Given the description of an element on the screen output the (x, y) to click on. 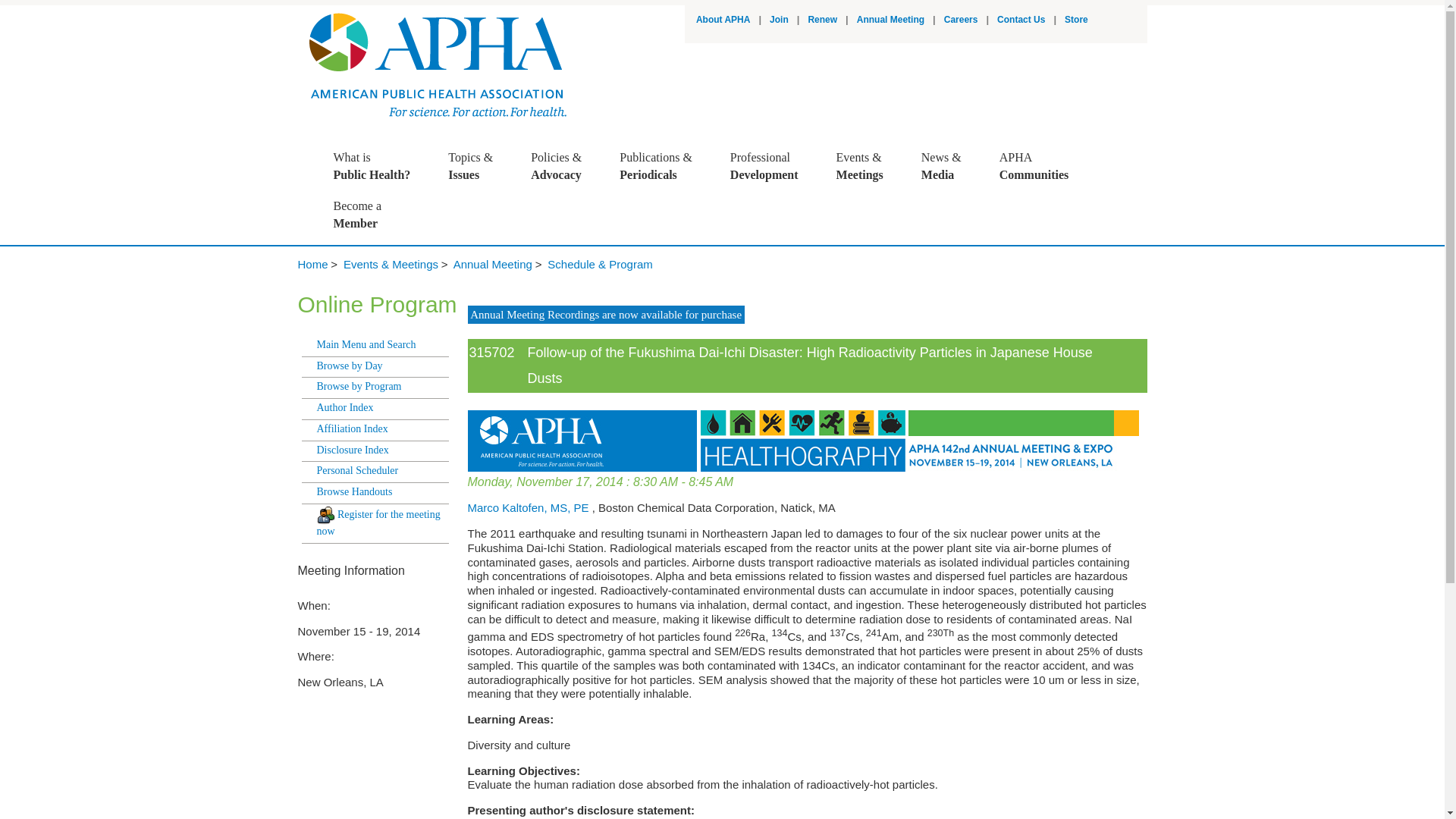
Annual Meeting (378, 166)
APHA Annual Meeting Recordings (890, 19)
Store (605, 314)
Contact Us (1075, 19)
About APHA (1021, 19)
Careers (772, 166)
Join (723, 19)
Renew (960, 19)
